Given the description of an element on the screen output the (x, y) to click on. 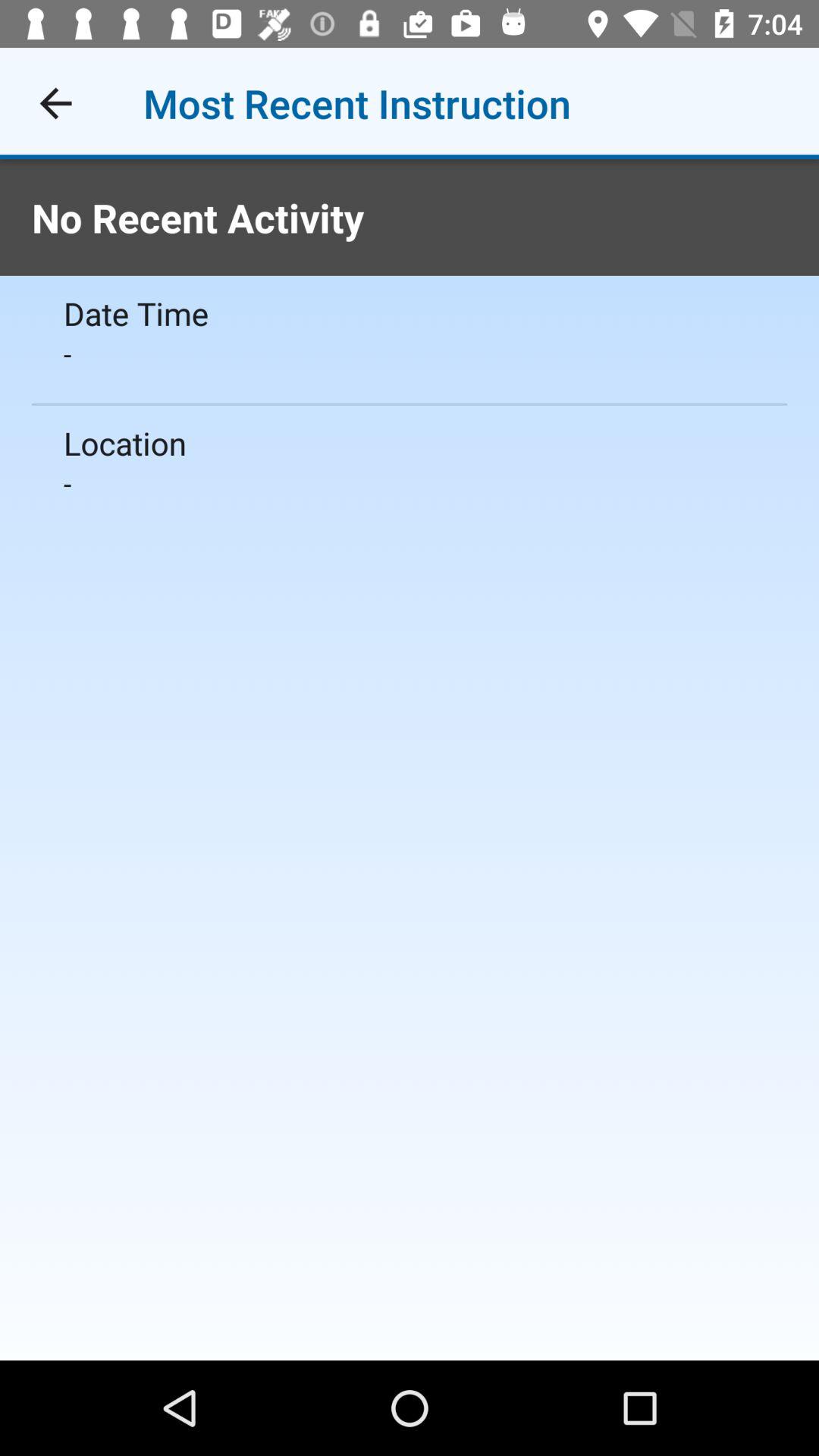
click location item (409, 442)
